Given the description of an element on the screen output the (x, y) to click on. 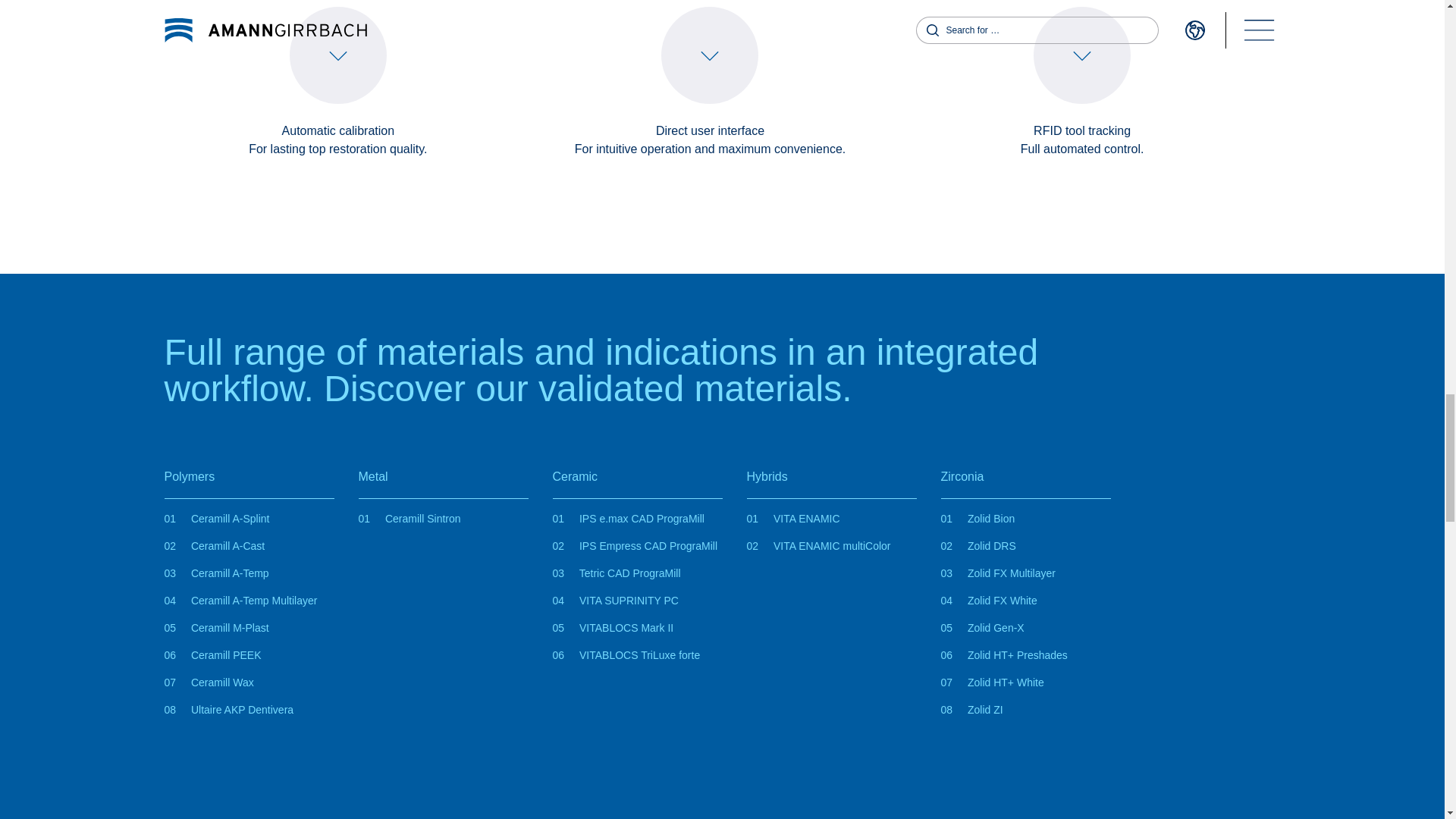
02 Ceramill A-Cast (213, 545)
03 Ceramill A-Temp (215, 573)
01 Ceramill A-Splint (216, 518)
